Given the description of an element on the screen output the (x, y) to click on. 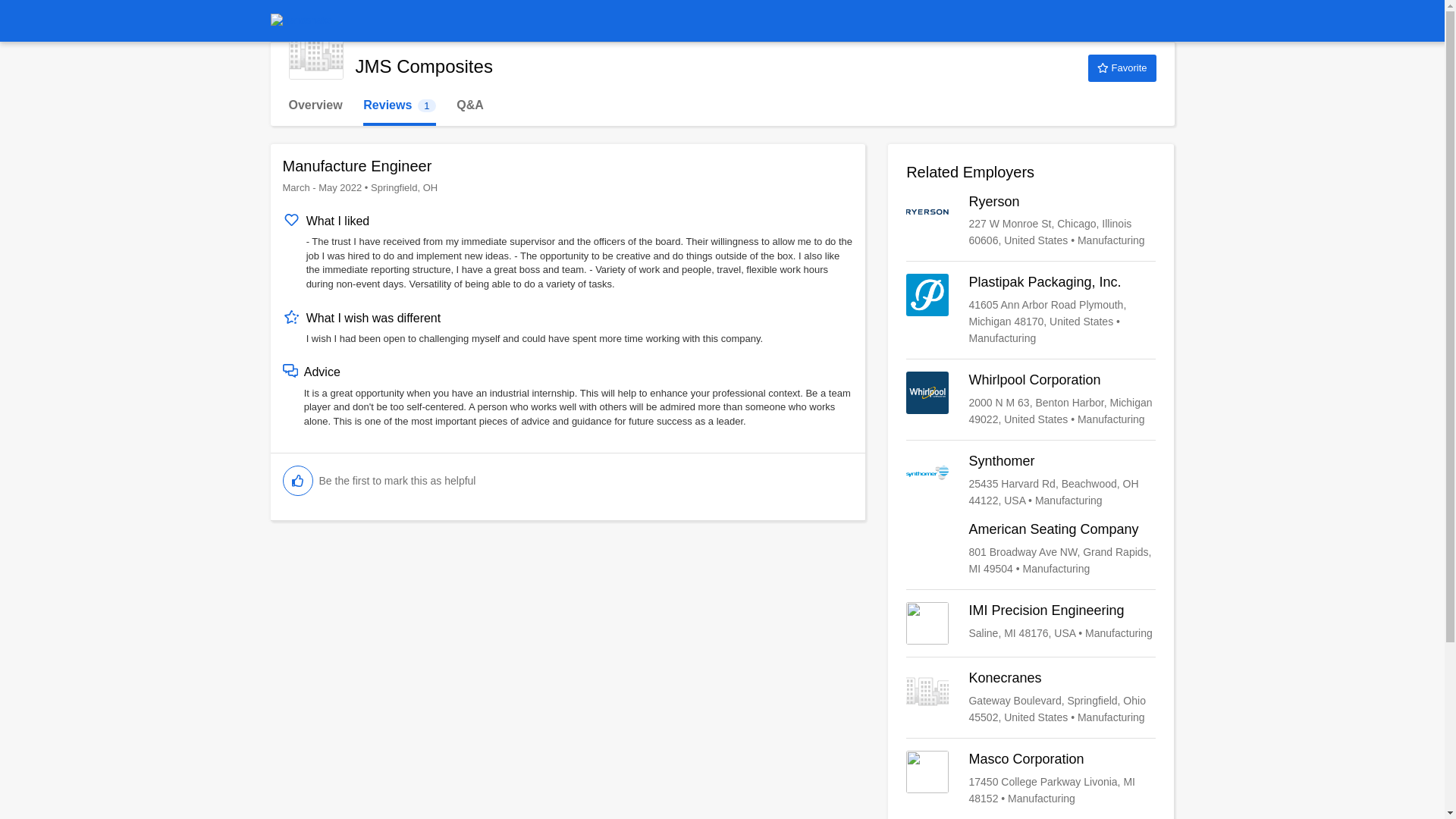
Mark this as helpful (297, 481)
Ryerson (1030, 220)
Masco Corporation (1030, 778)
Overview (315, 105)
IMI Precision Engineering (1030, 622)
Whirlpool Corporation (1030, 399)
American Seating Company (1030, 548)
JMS Composites (315, 52)
Synthomer (398, 105)
Plastipak Packaging, Inc. (1030, 480)
Favorite (1030, 309)
Konecranes (1121, 67)
